Given the description of an element on the screen output the (x, y) to click on. 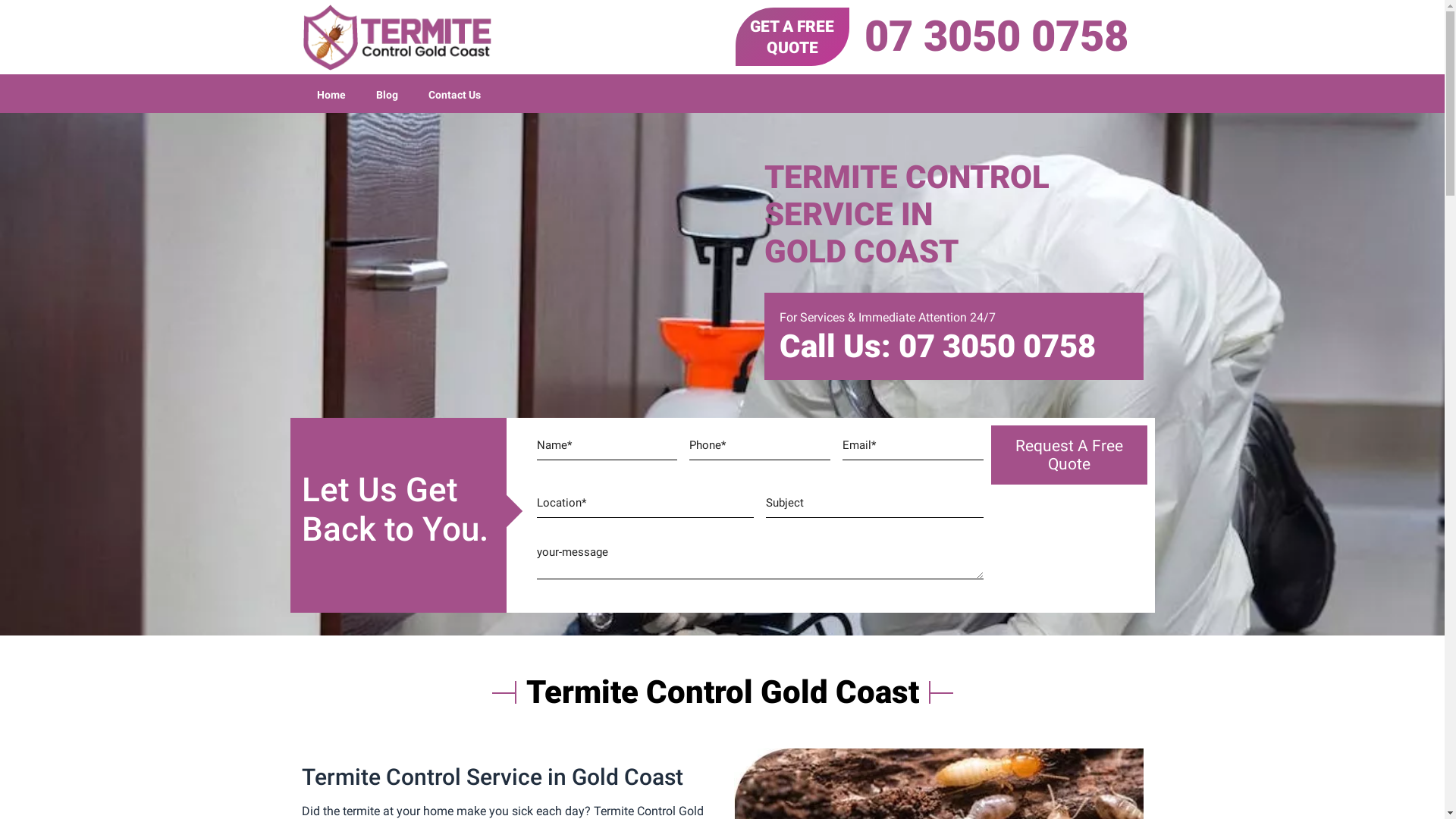
Home Element type: text (330, 95)
Blog Element type: text (387, 95)
Contact Us Element type: text (453, 95)
GET A FREE QUOTE Element type: text (792, 36)
Request A Free Quote Element type: text (1068, 454)
07 3050 0758 Element type: text (996, 36)
